Given the description of an element on the screen output the (x, y) to click on. 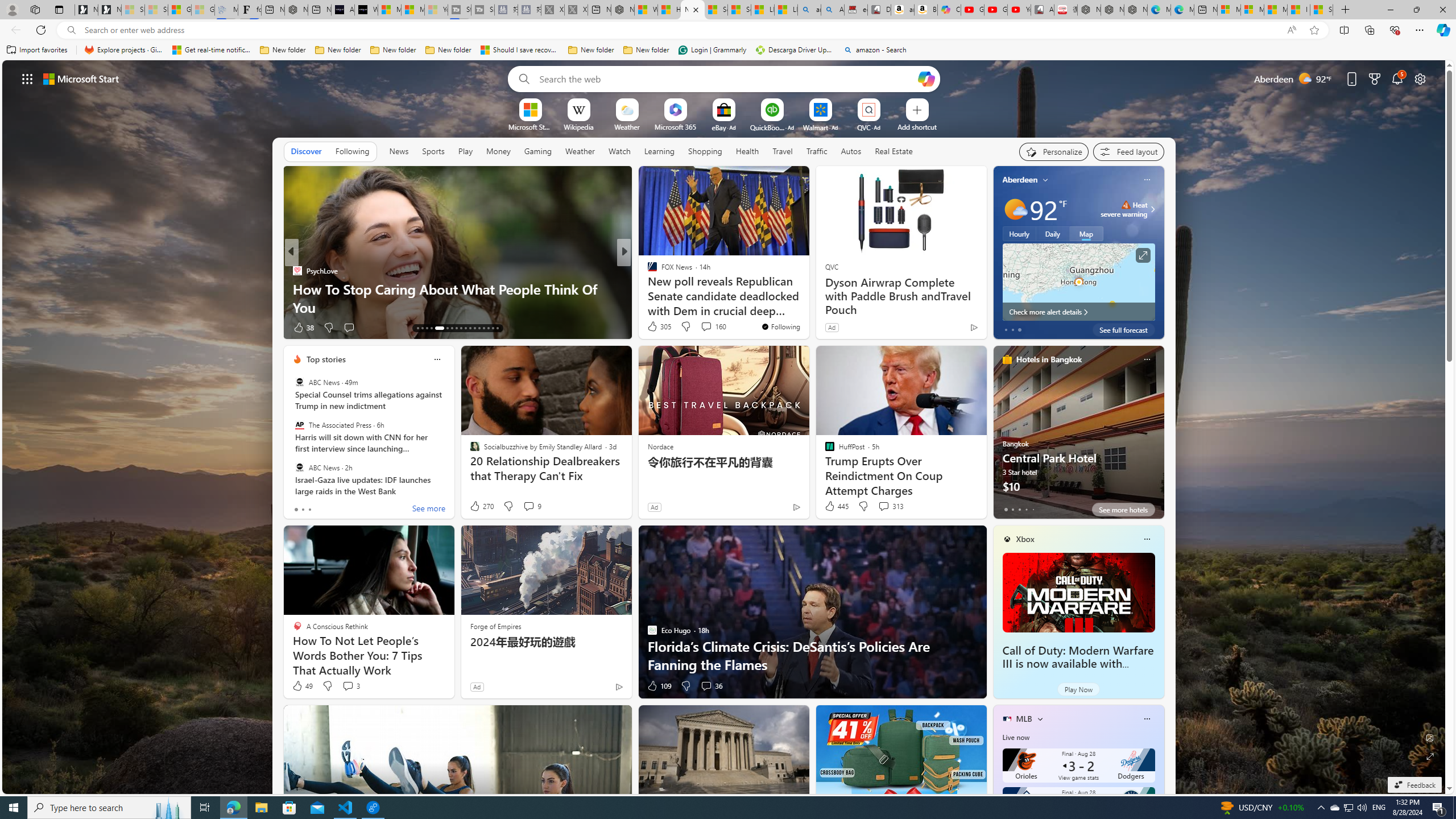
Mostly sunny (1014, 208)
Kathy Kingsley (647, 270)
63 Like (652, 327)
View comments 36 Comment (710, 685)
Newsweek (647, 270)
